Given the description of an element on the screen output the (x, y) to click on. 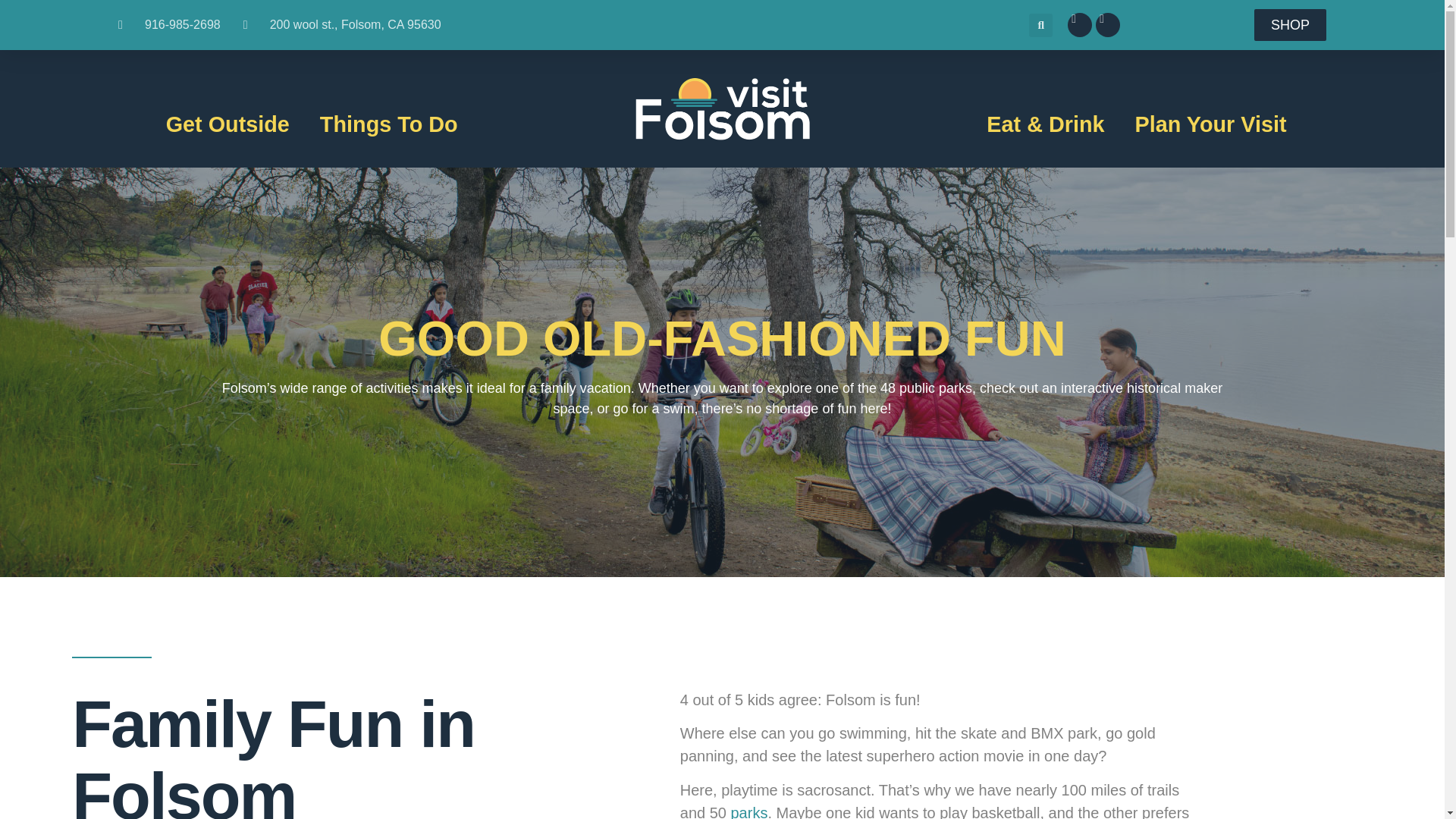
SHOP (1289, 24)
Things To Do (388, 124)
Get Outside (227, 124)
